Given the description of an element on the screen output the (x, y) to click on. 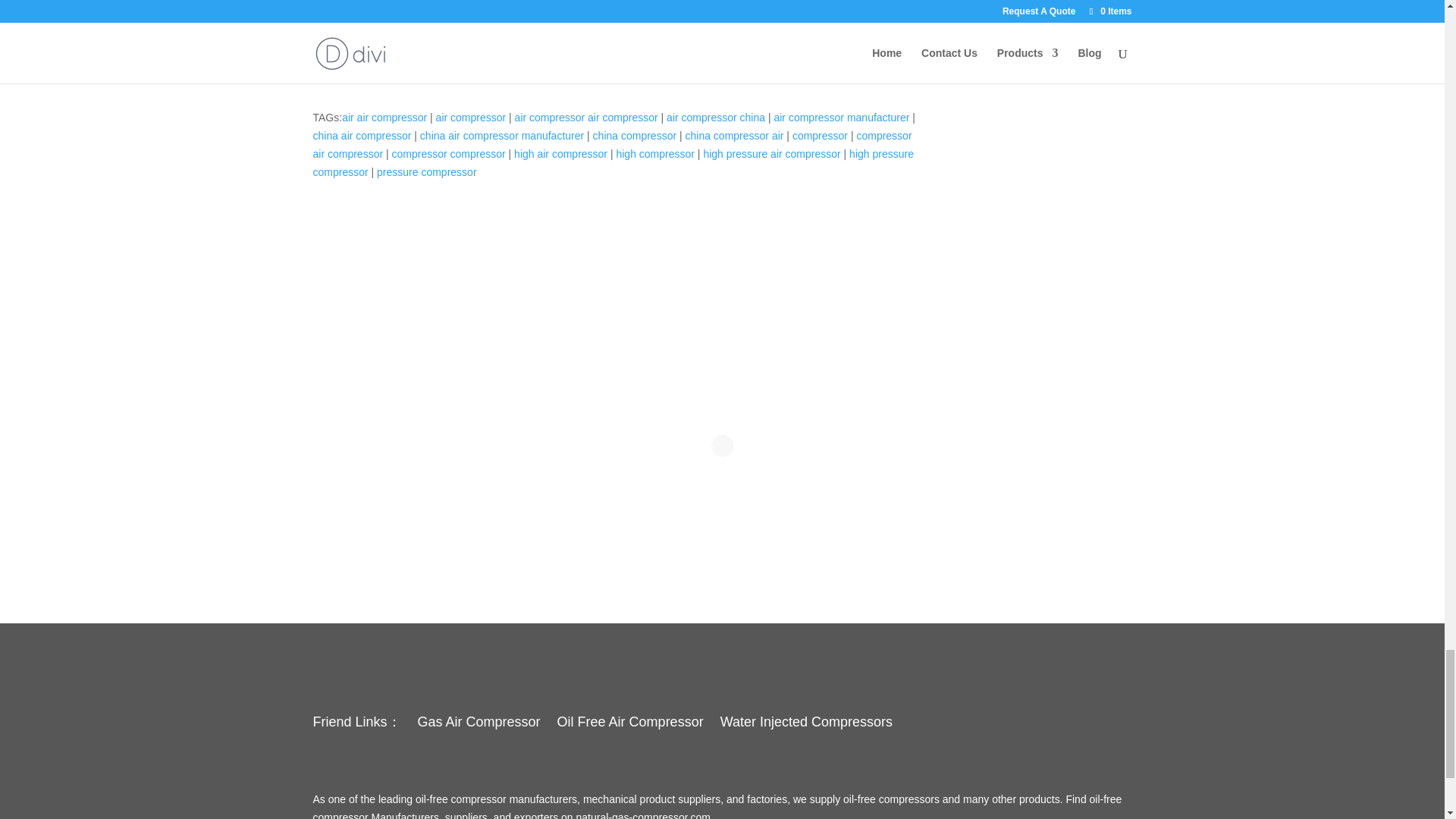
high pressure air compressor (771, 153)
china compressor (634, 135)
high air compressor (560, 153)
high compressor (654, 153)
compressor (819, 135)
china air compressor manufacturer (501, 135)
compressor air compressor (612, 144)
pressure compressor (427, 172)
compressor compressor (448, 153)
air compressor air compressor (586, 117)
air compressor china (715, 117)
high pressure compressor (612, 163)
air air compressor (384, 117)
china compressor air (734, 135)
air compressor (470, 117)
